Given the description of an element on the screen output the (x, y) to click on. 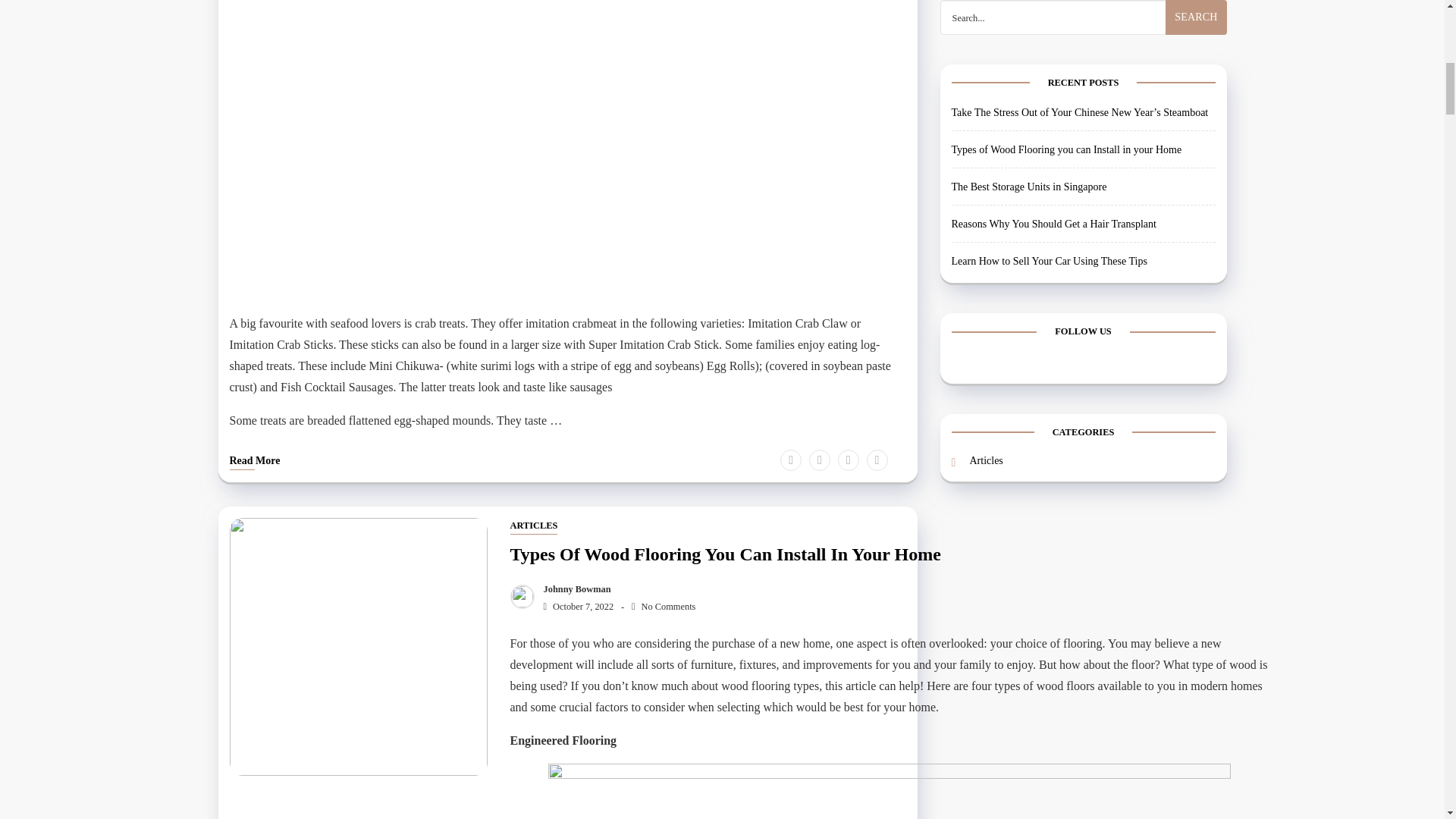
ARTICLES (533, 526)
Johnny Bowman (573, 588)
October 7, 2022 (574, 606)
Types Of Wood Flooring You Can Install In Your Home (888, 556)
No Comments (663, 606)
Read More (253, 462)
